Given the description of an element on the screen output the (x, y) to click on. 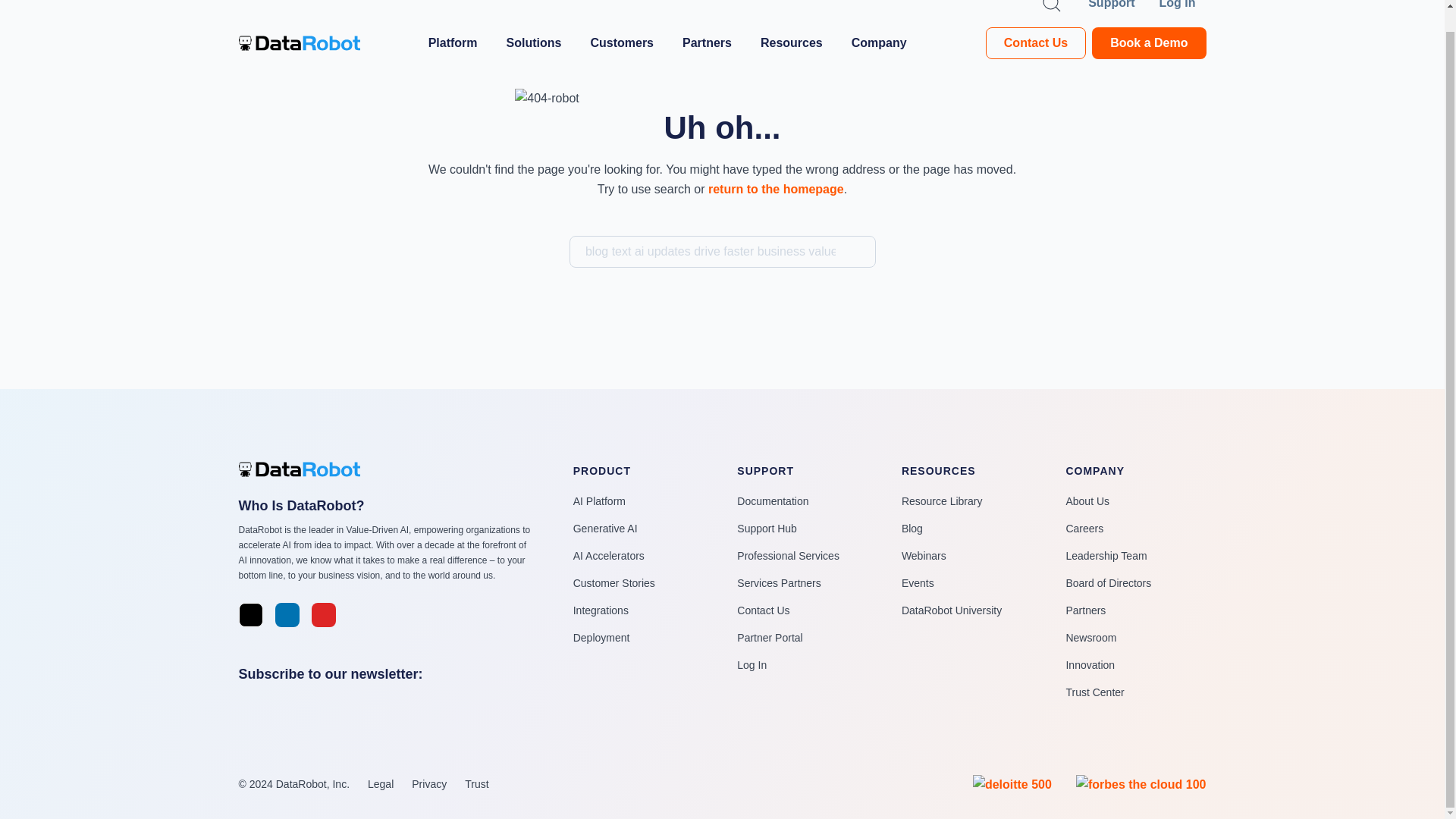
Support (1110, 6)
Platform (458, 43)
Log In (1182, 6)
 blog text ai updates drive faster business value  (722, 251)
DataRobot (306, 468)
Customers (626, 43)
Solutions (538, 43)
 blog text ai updates drive faster business value  (722, 251)
DataRobot (298, 43)
